Given the description of an element on the screen output the (x, y) to click on. 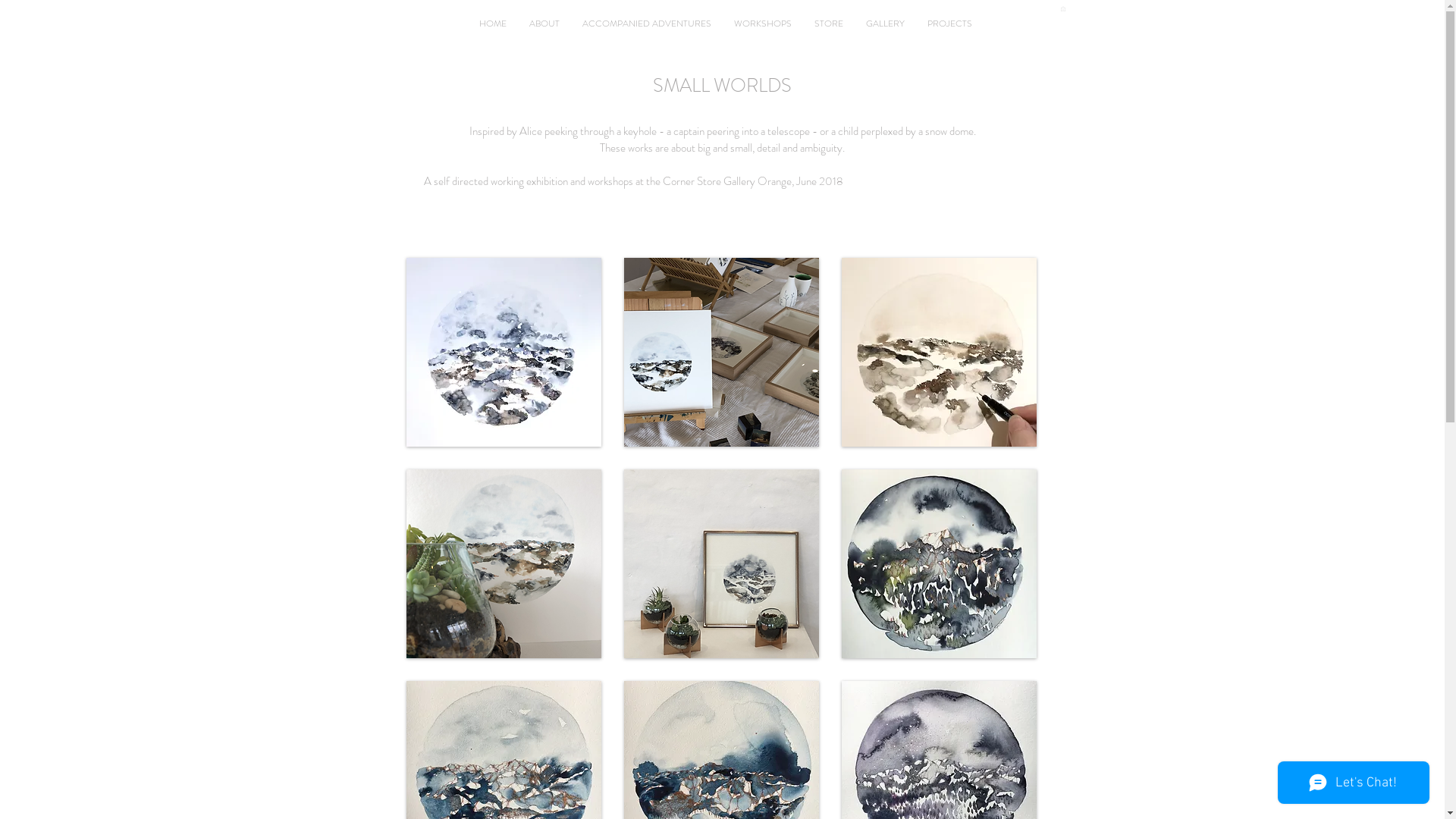
STORE Element type: text (827, 23)
0 Element type: text (1062, 8)
ACCOMPANIED ADVENTURES Element type: text (645, 23)
PROJECTS Element type: text (949, 23)
ABOUT Element type: text (543, 23)
GALLERY Element type: text (884, 23)
WORKSHOPS Element type: text (761, 23)
HOME Element type: text (492, 23)
